Given the description of an element on the screen output the (x, y) to click on. 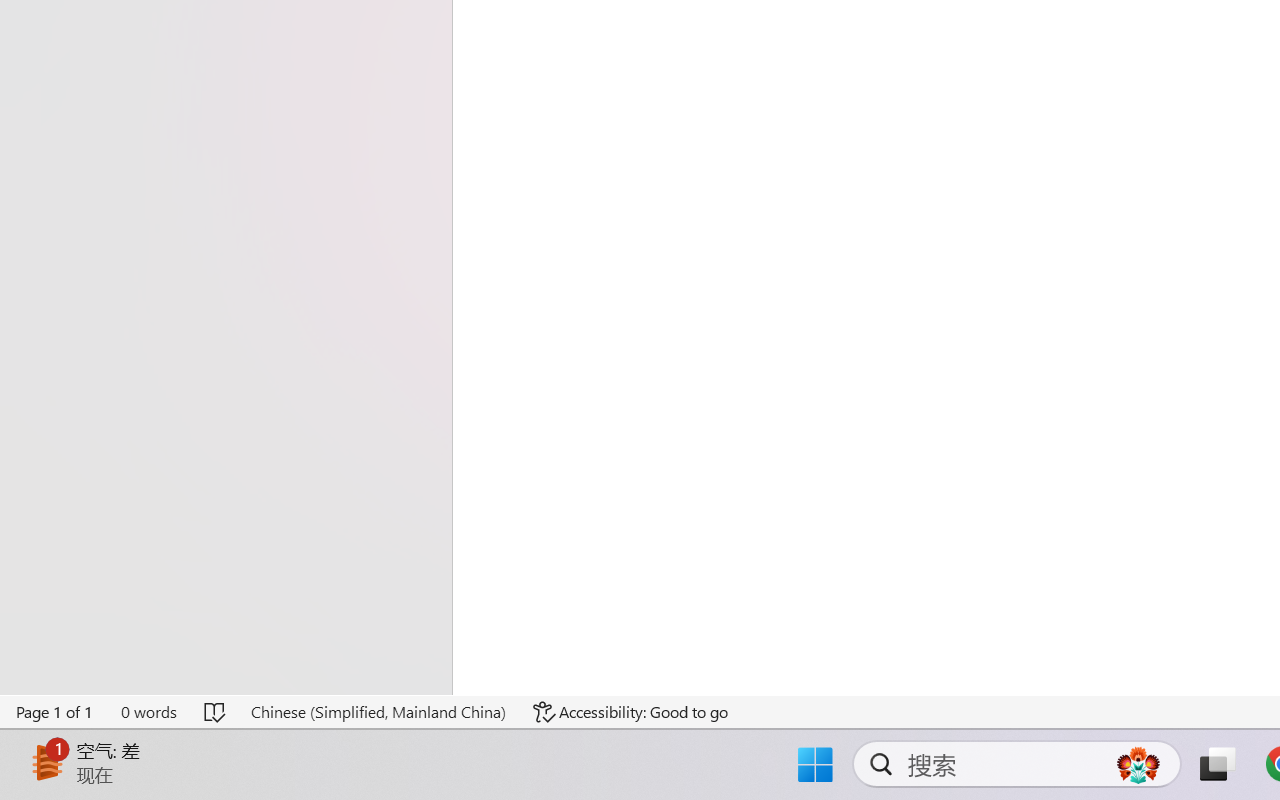
Language Chinese (Simplified, Mainland China) (378, 712)
